Given the description of an element on the screen output the (x, y) to click on. 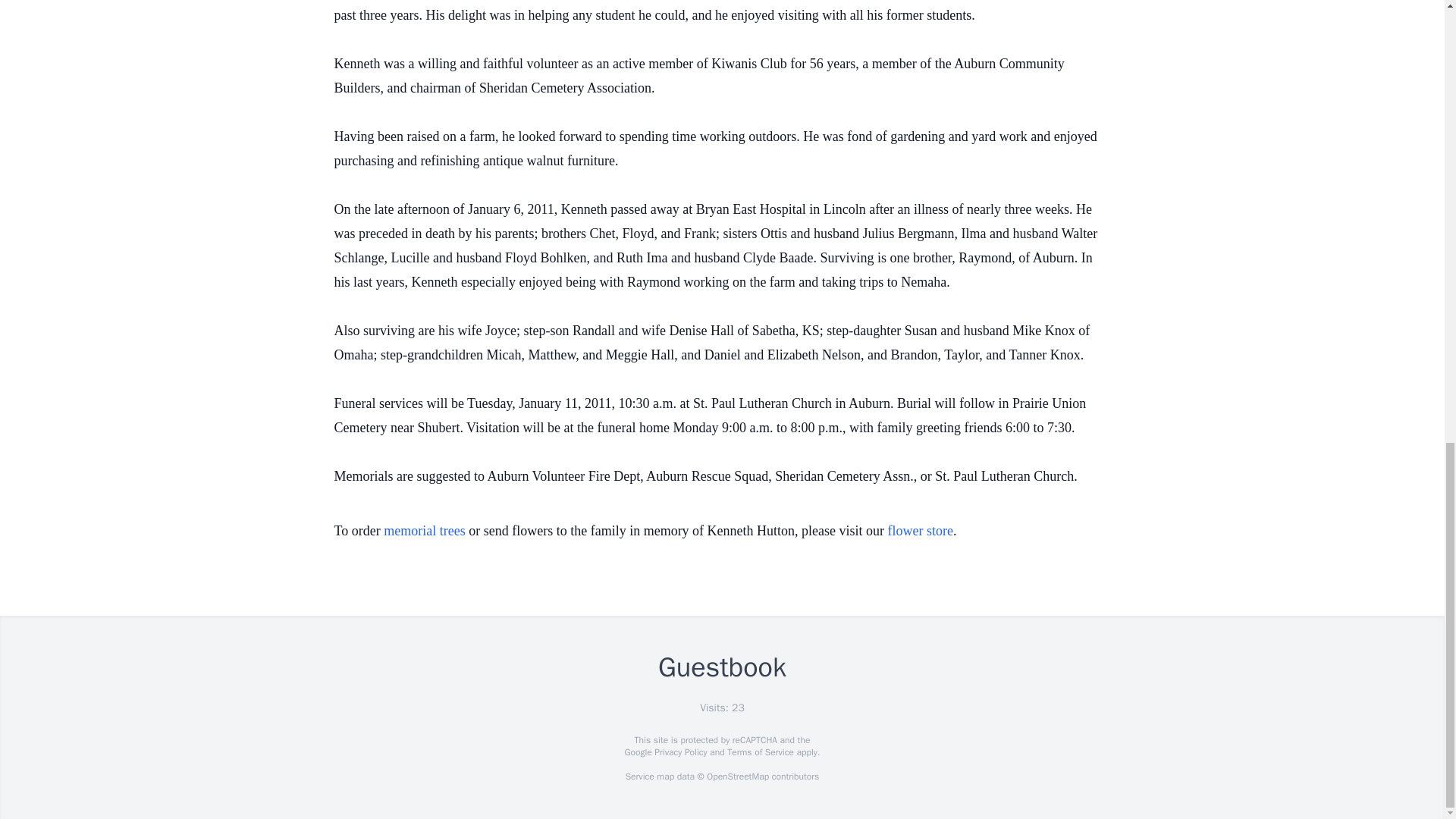
OpenStreetMap (737, 776)
memorial trees (424, 530)
Privacy Policy (679, 752)
Terms of Service (759, 752)
flower store (920, 530)
